Given the description of an element on the screen output the (x, y) to click on. 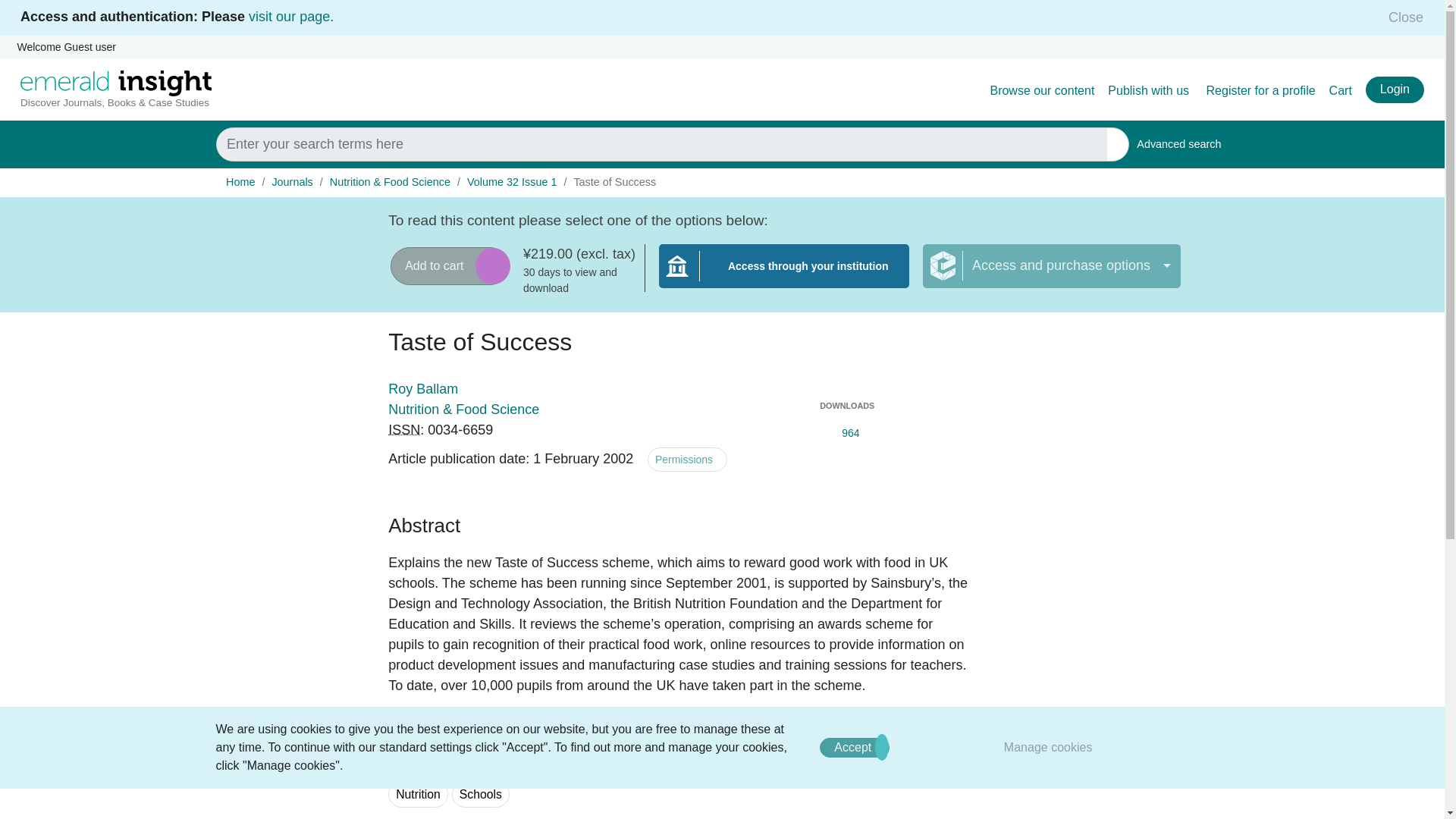
Publish with us (1150, 90)
Home (239, 182)
Access through your institution (783, 275)
Journals (1178, 144)
Accept (291, 182)
visit our page. (853, 747)
Search for keyword Nutrition (290, 16)
